Given the description of an element on the screen output the (x, y) to click on. 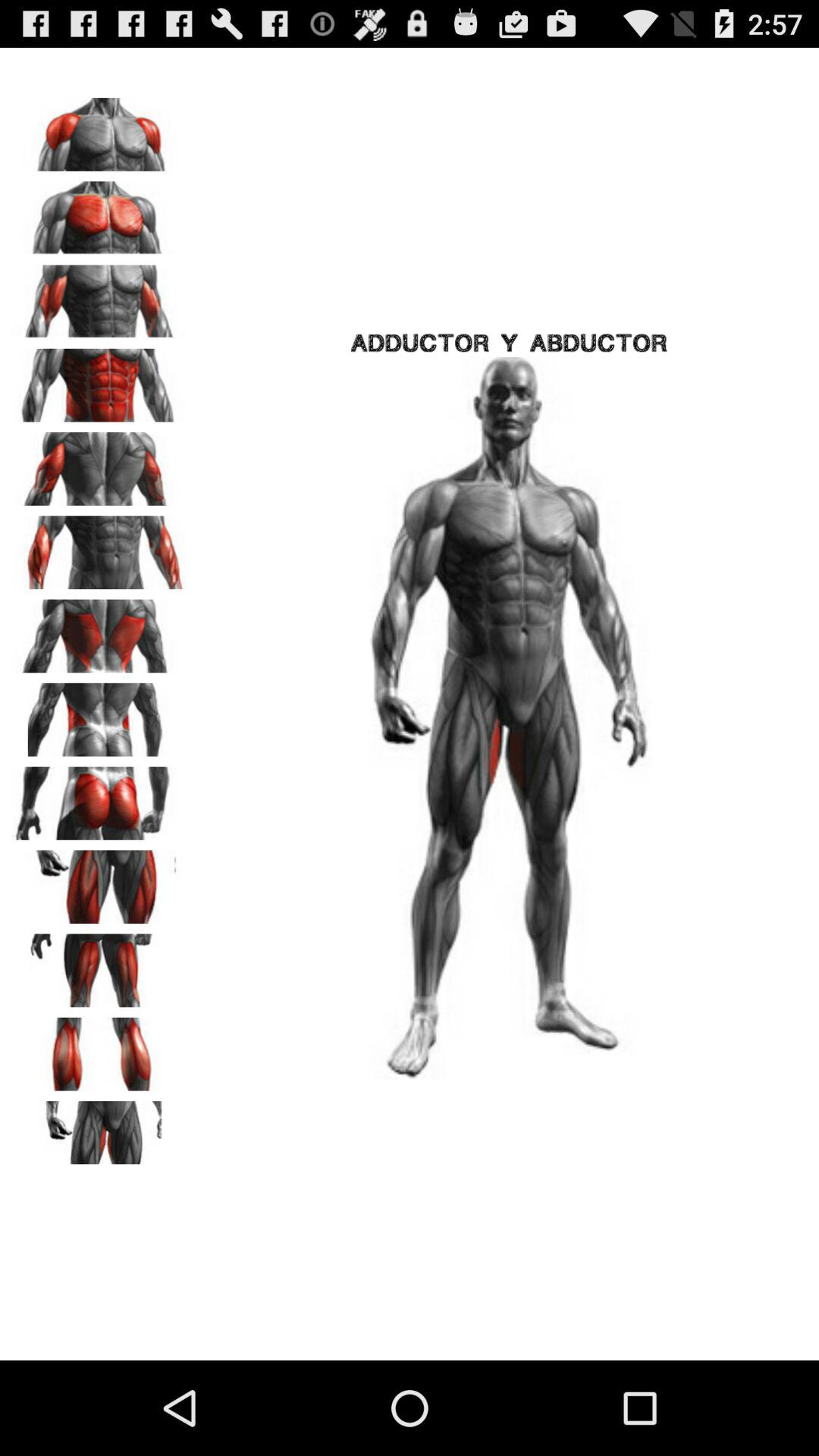
toggle for chest exercises (99, 129)
